Given the description of an element on the screen output the (x, y) to click on. 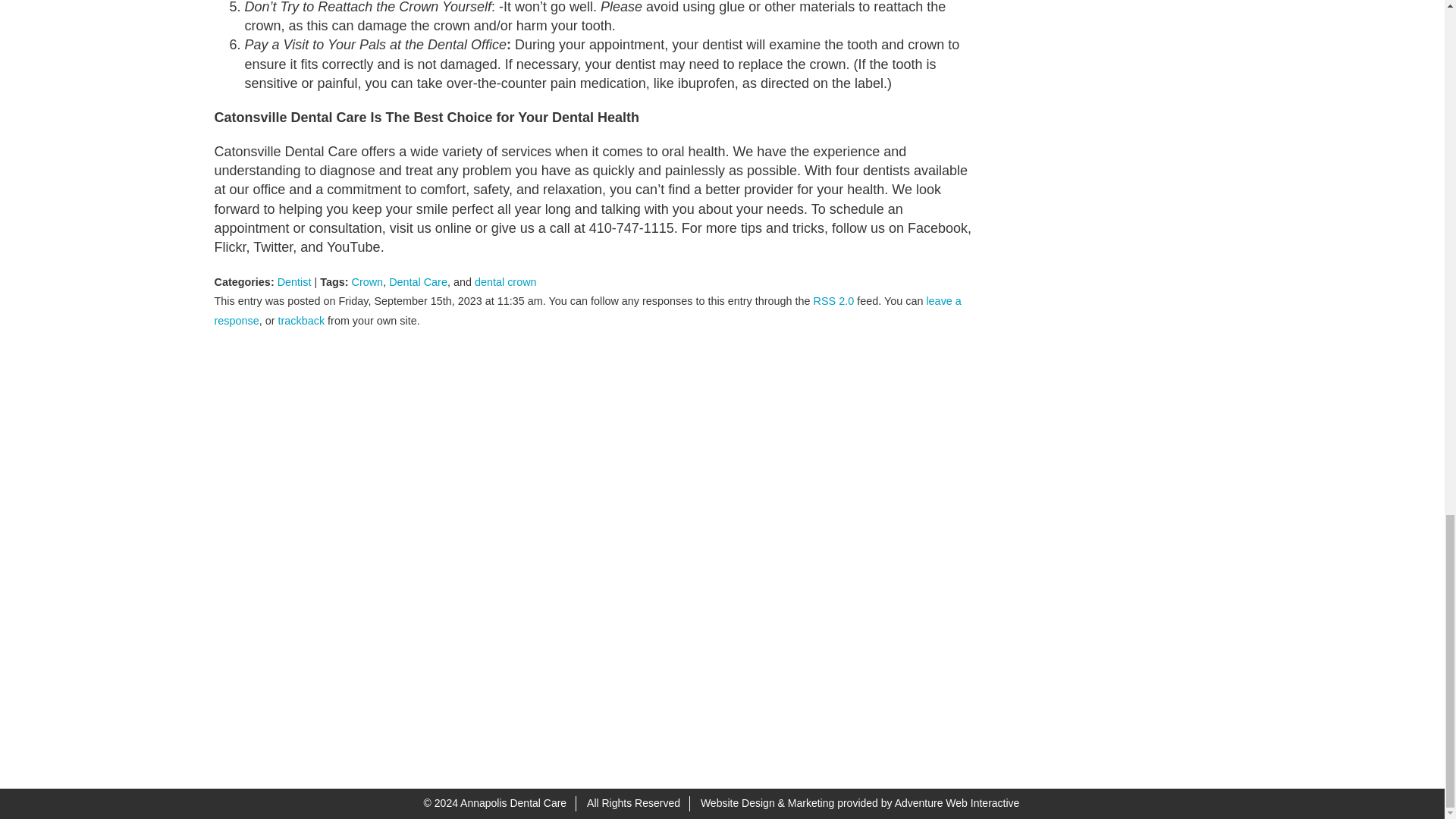
dental crown (505, 282)
RSS 2.0 (833, 300)
Dentist (294, 282)
trackback (301, 320)
leave a response (587, 309)
410-747-1115 (507, 649)
Crown (368, 282)
Dental Care (417, 282)
